Given the description of an element on the screen output the (x, y) to click on. 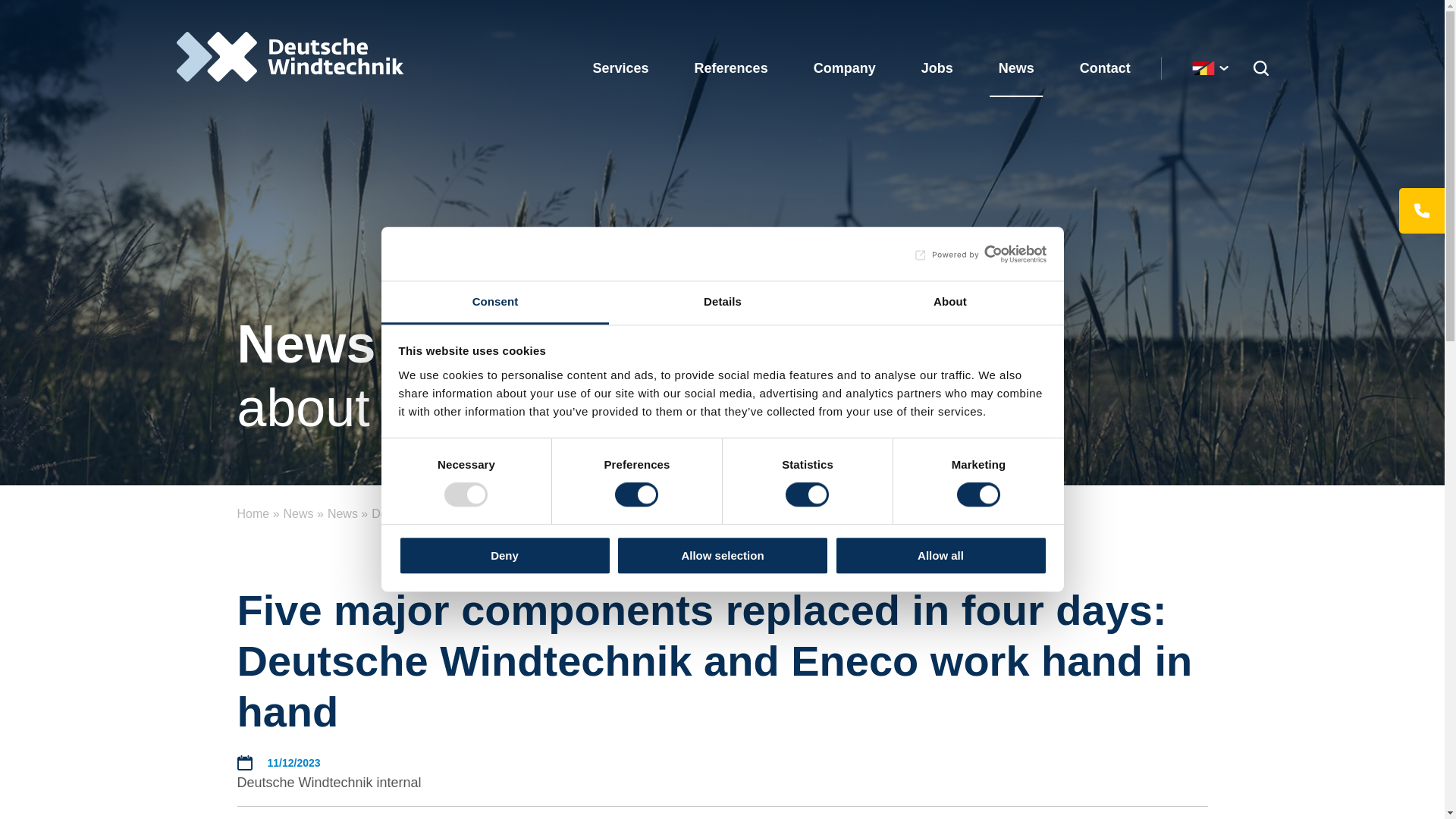
Services (620, 68)
About (948, 302)
Allow selection (721, 555)
Deutsche Windtechnik AG  (289, 56)
Details (721, 302)
Consent (494, 302)
Deny (503, 555)
